Given the description of an element on the screen output the (x, y) to click on. 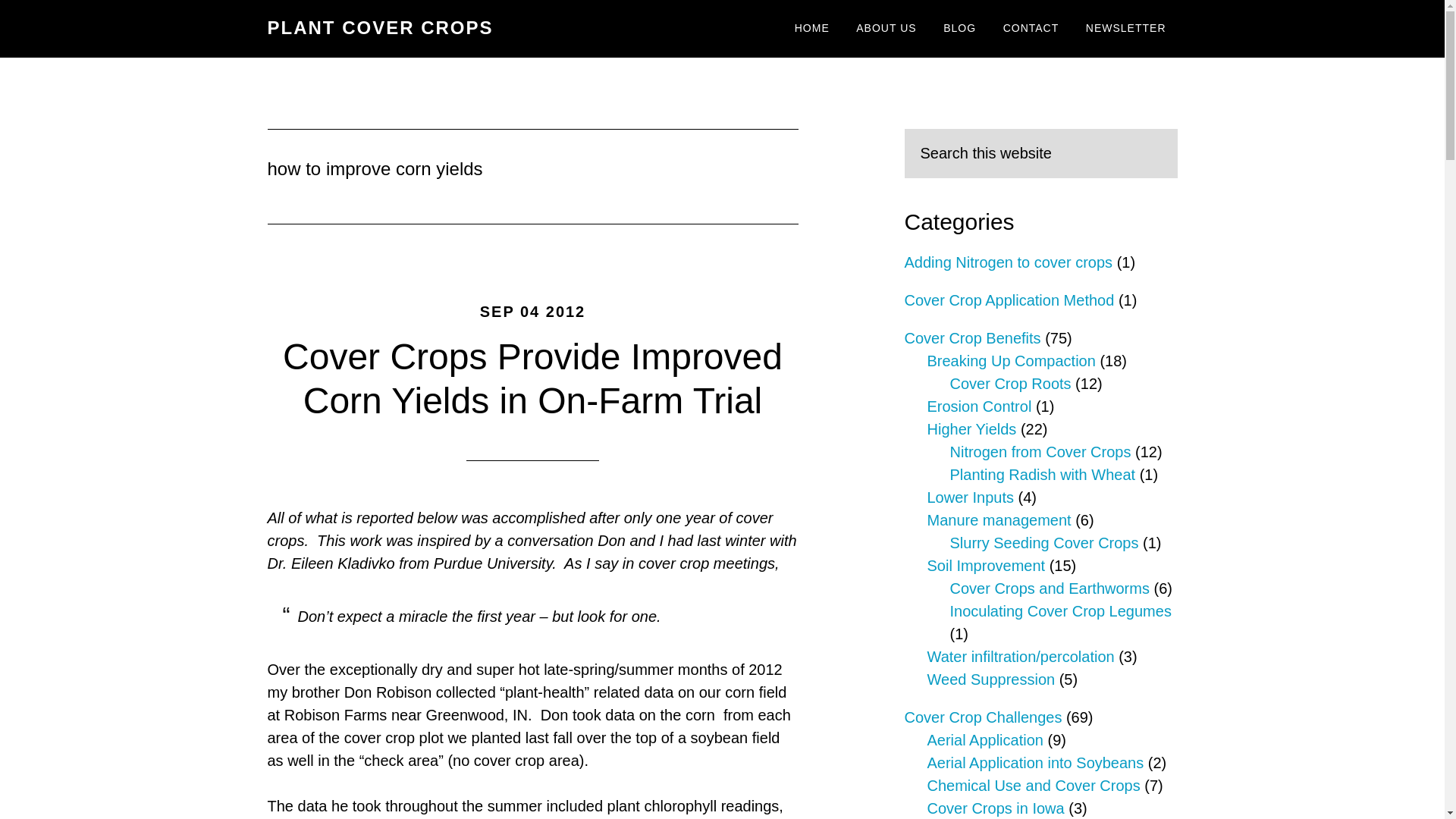
HOME (812, 28)
NEWSLETTER (1125, 28)
ABOUT US (885, 28)
PLANT COVER CROPS (379, 27)
Cover Crops Provide Improved Corn Yields in On-Farm Trial (532, 378)
CONTACT (1030, 28)
BLOG (959, 28)
